Given the description of an element on the screen output the (x, y) to click on. 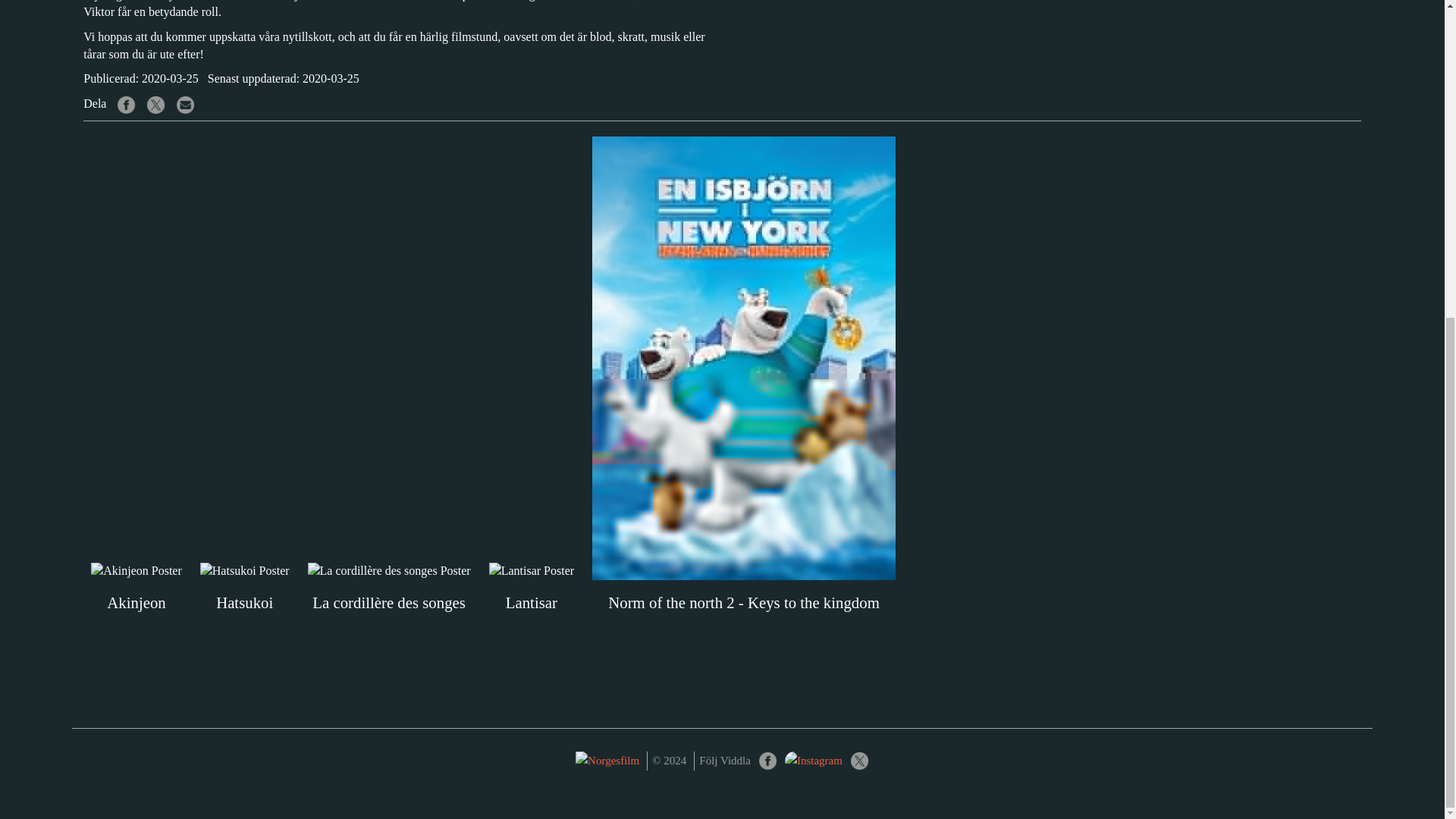
Akinjeon (135, 588)
Lantisar (530, 588)
Norm of the north 2 - Keys to the kingdom (743, 482)
Hatsukoi (244, 588)
